Given the description of an element on the screen output the (x, y) to click on. 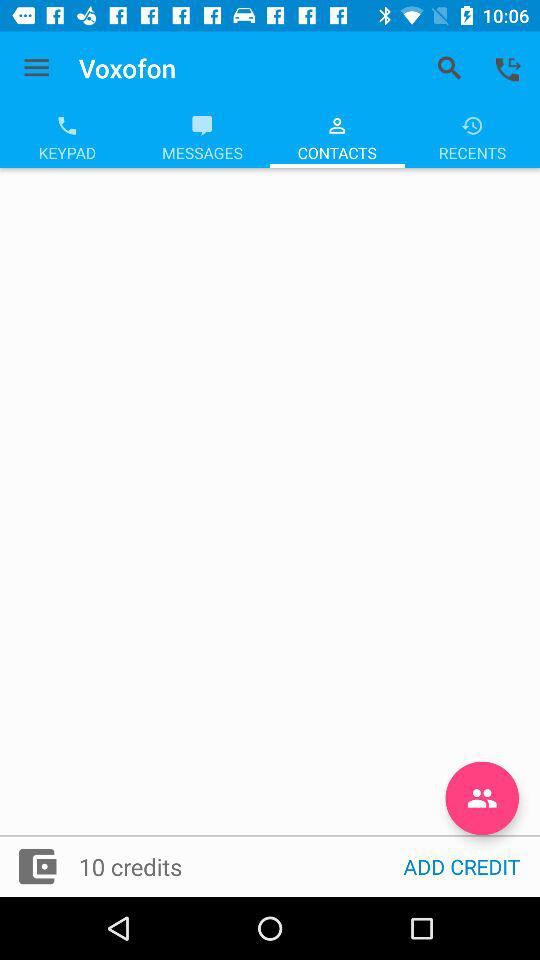
turn off the item below the recents item (482, 798)
